Given the description of an element on the screen output the (x, y) to click on. 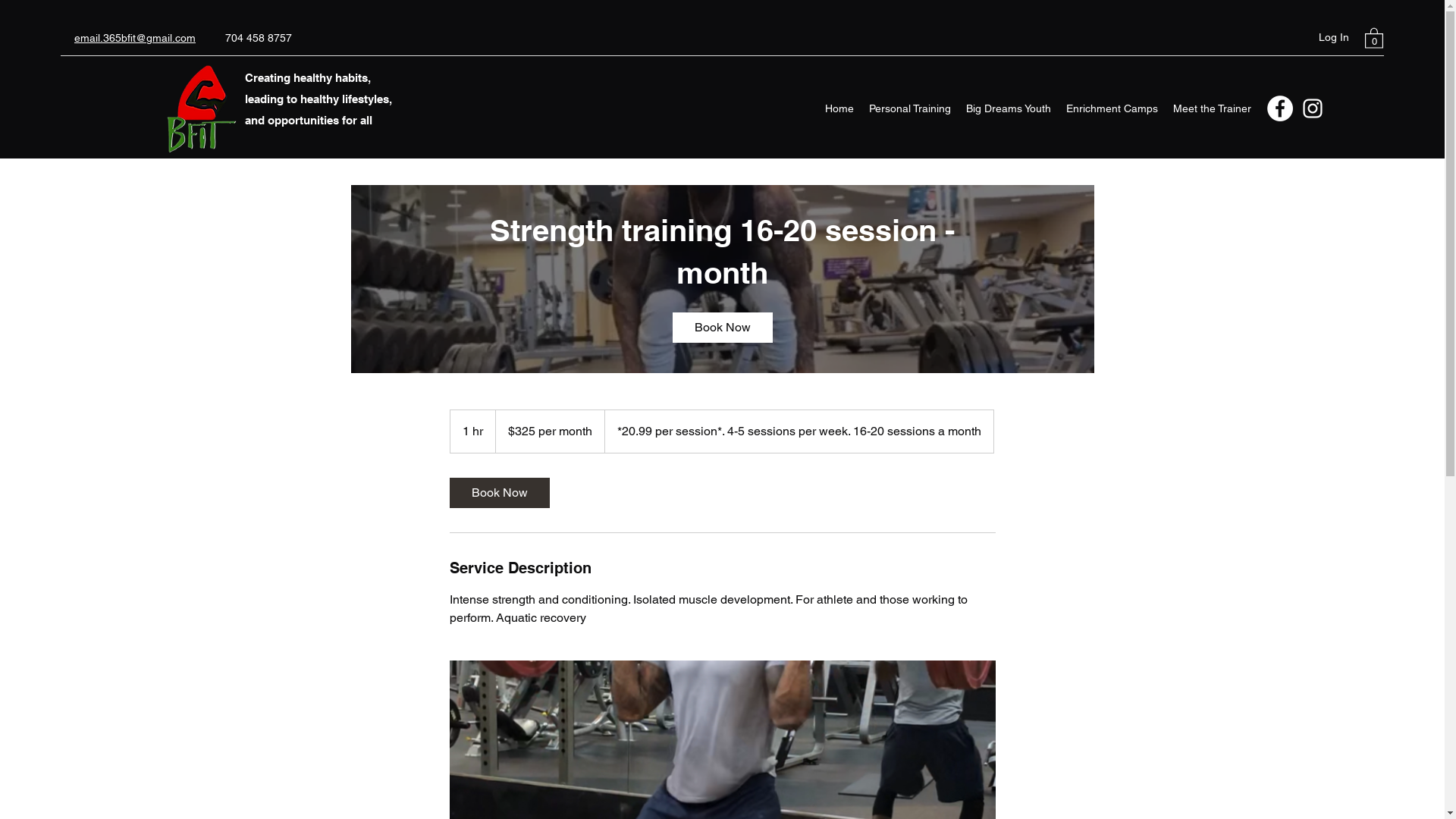
Book Now Element type: text (498, 492)
Personal Training Element type: text (909, 108)
Book Now Element type: text (721, 327)
Creating healthy habits, Element type: text (307, 77)
Enrichment Camps Element type: text (1111, 108)
email.365bfit@gmail.com Element type: text (134, 37)
Home Element type: text (839, 108)
Big Dreams Youth Element type: text (1008, 108)
704 458 8757 Element type: text (258, 37)
leading to healthy lifestyles,
and opportunities for all Element type: text (318, 109)
0 Element type: text (1374, 37)
Log In Element type: text (1333, 37)
Meet the Trainer Element type: text (1211, 108)
